Given the description of an element on the screen output the (x, y) to click on. 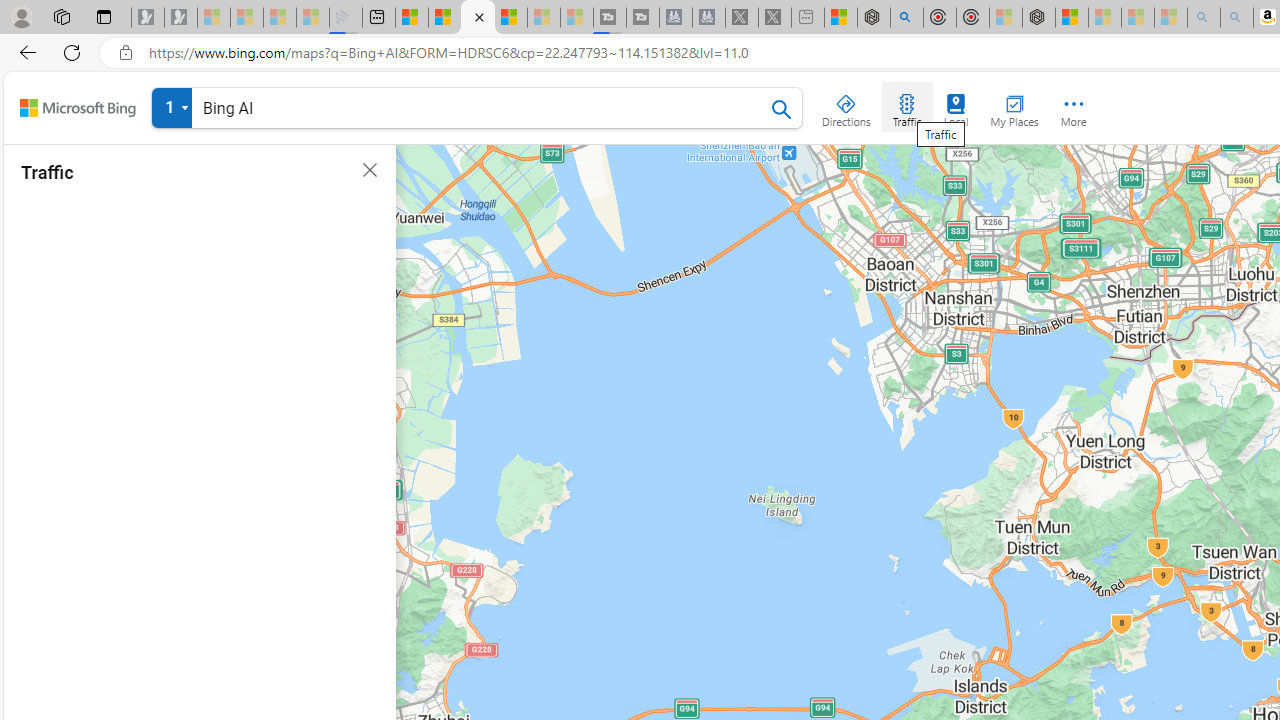
My Places (1014, 106)
Local (955, 106)
Directions (846, 106)
Add a search (482, 107)
